Given the description of an element on the screen output the (x, y) to click on. 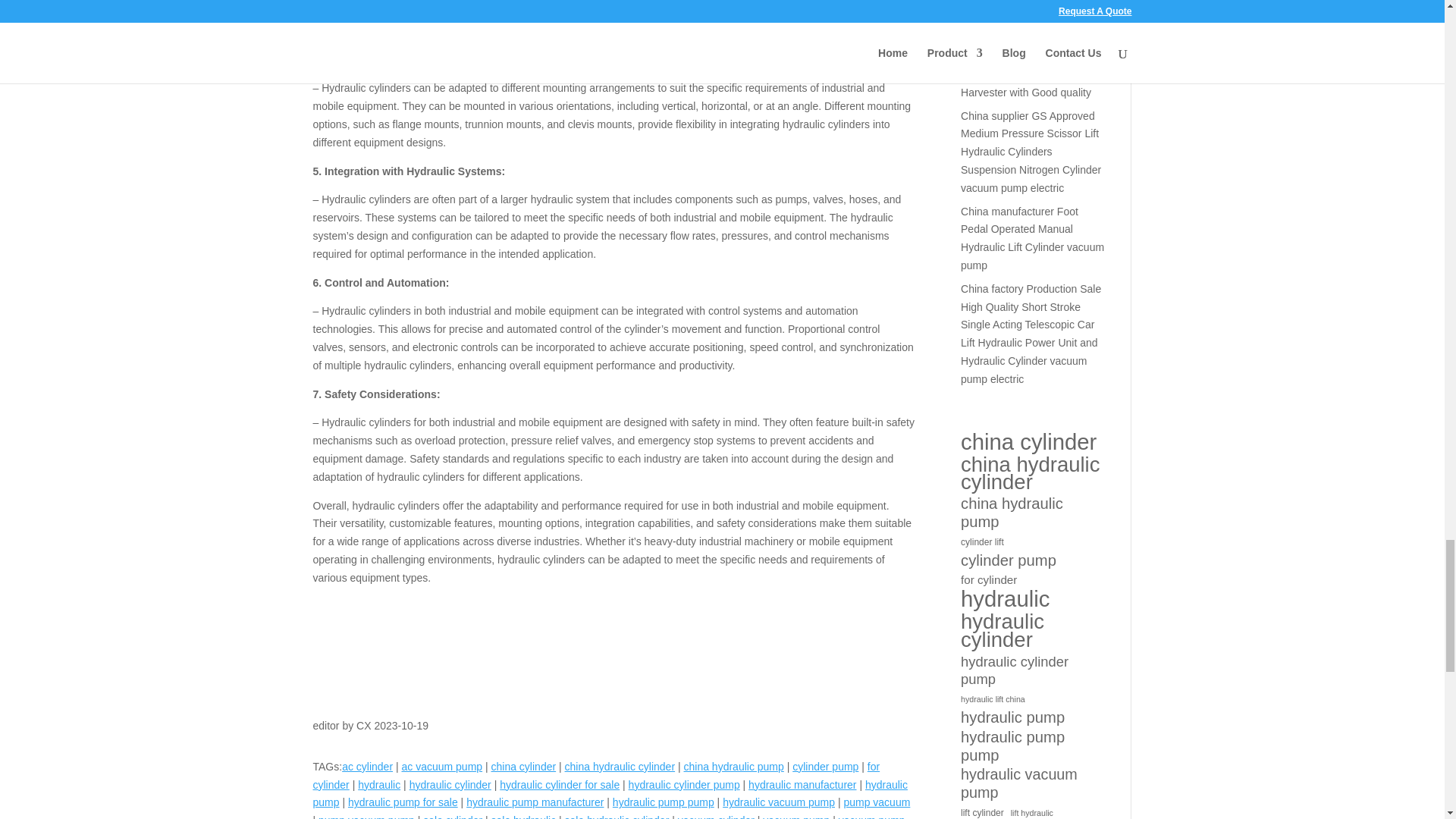
pump vacuum pump (366, 816)
vacuum cylinder (716, 816)
hydraulic pump (610, 793)
vacuum pump (795, 816)
hydraulic pump for sale (402, 802)
sale hydraulic cylinder (616, 816)
sale hydraulic (524, 816)
hydraulic manufacturer (802, 784)
china cylinder (524, 766)
cylinder pump (825, 766)
